Given the description of an element on the screen output the (x, y) to click on. 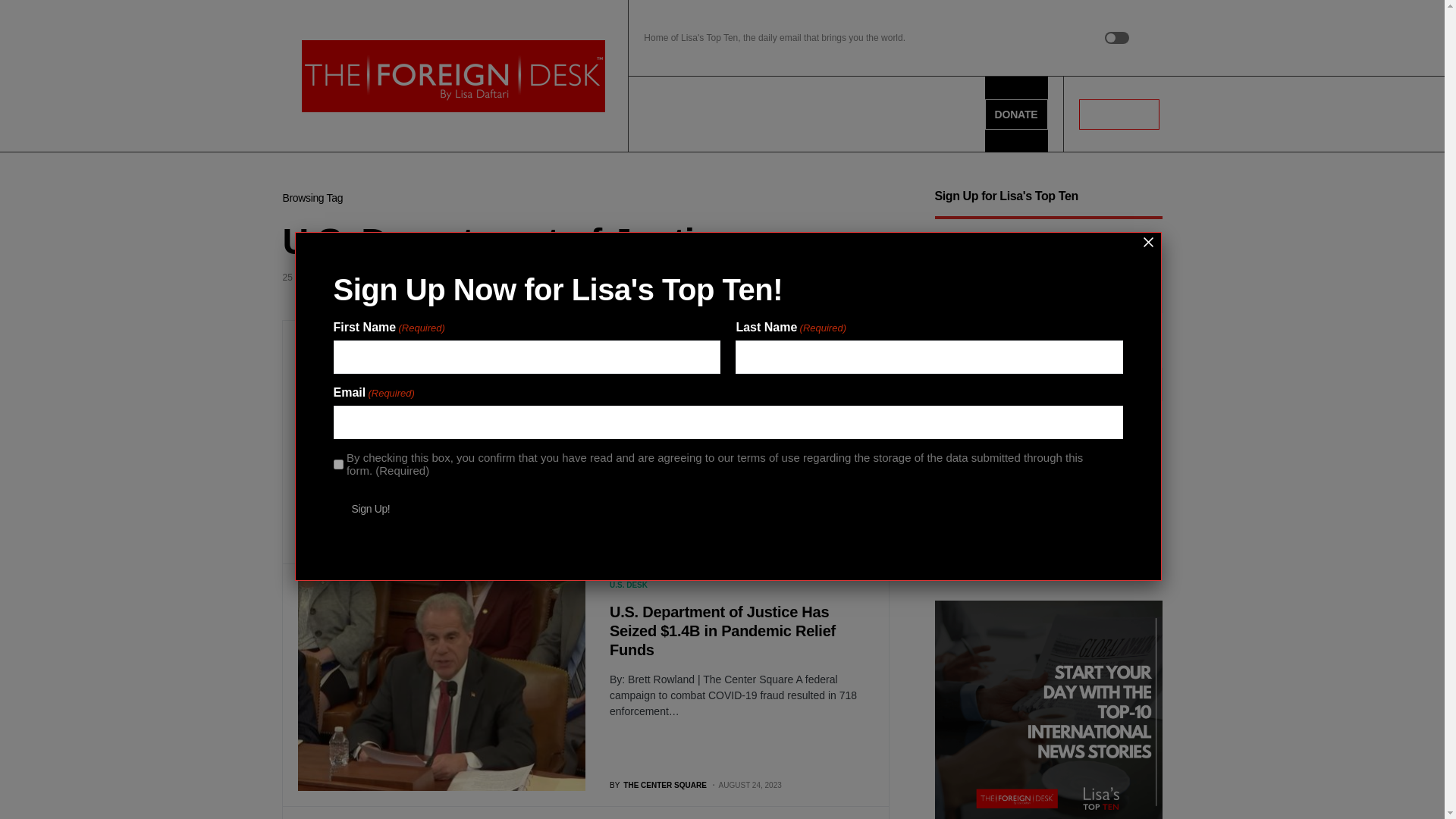
Sign Up! (971, 530)
View all posts by The Center Square (658, 785)
Sign Up! (371, 508)
View all posts by UPI (623, 542)
